Given the description of an element on the screen output the (x, y) to click on. 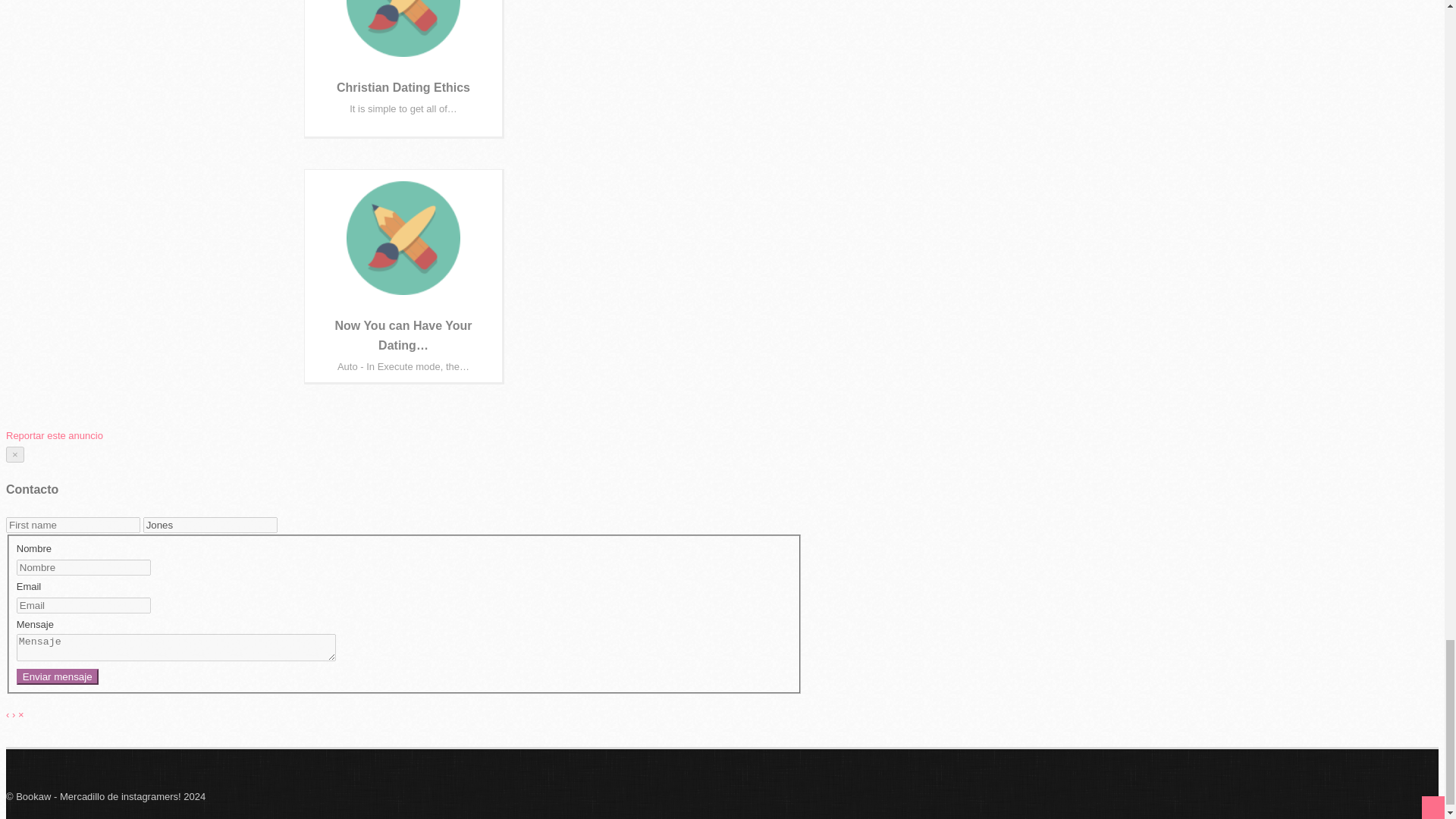
Christian Dating Ethics (403, 87)
Jones (210, 524)
